Given the description of an element on the screen output the (x, y) to click on. 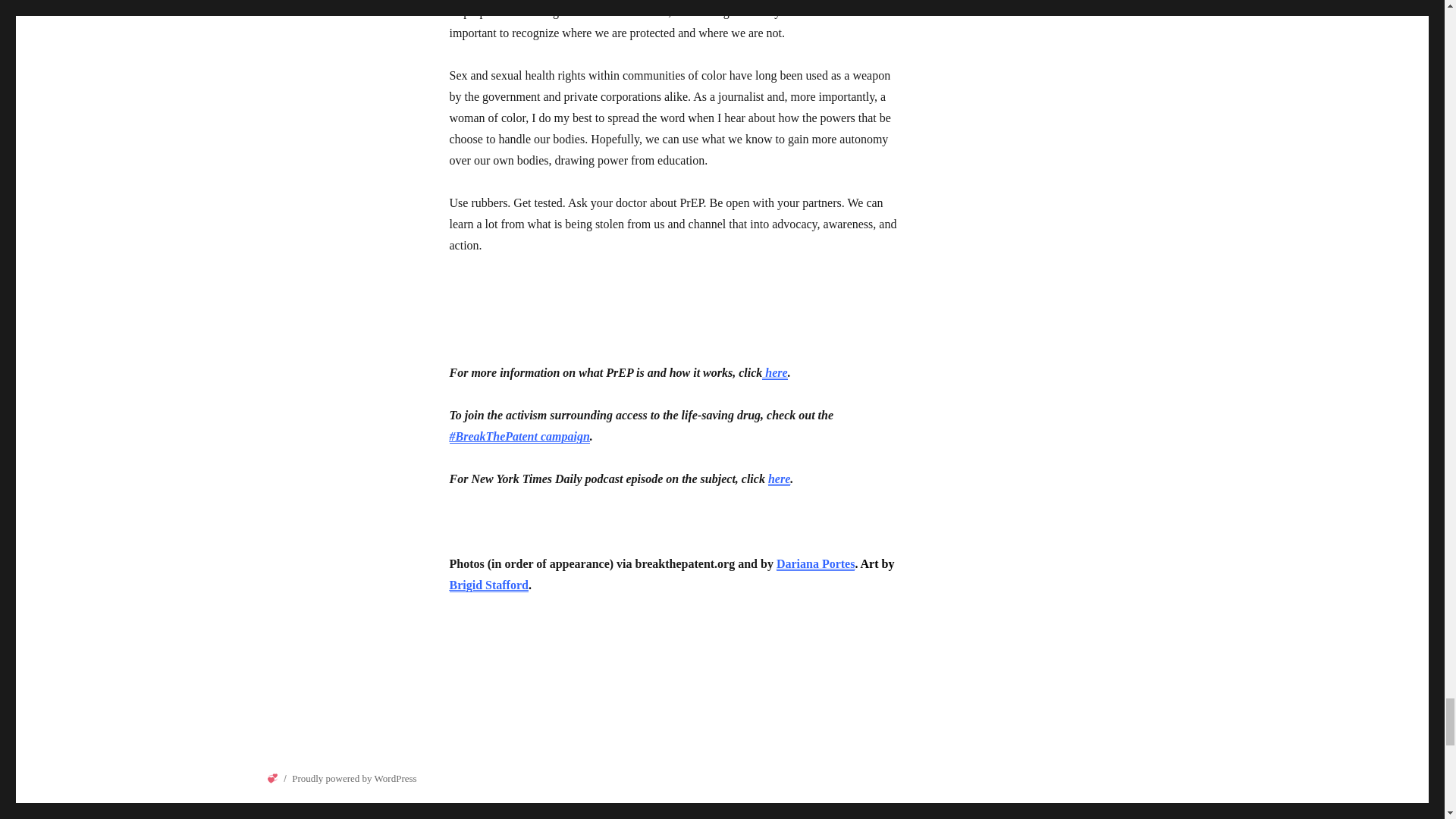
here (774, 372)
